Given the description of an element on the screen output the (x, y) to click on. 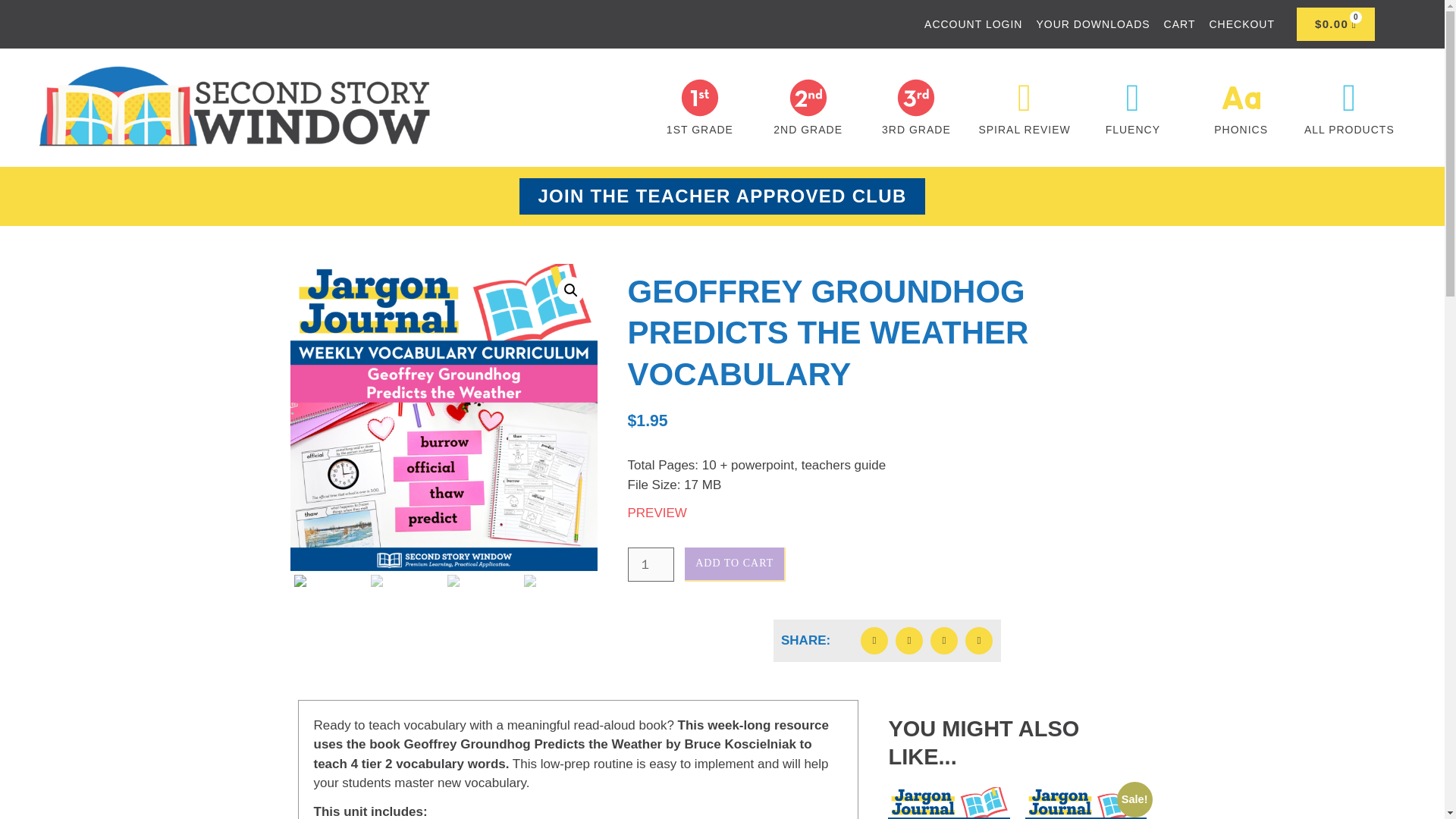
YOUR DOWNLOADS (1092, 23)
Geoffrey Groundhog Predicts the Weather Vocabulary (442, 416)
CART (1179, 23)
1ST GRADE (699, 129)
ALL PRODUCTS (1349, 129)
3RD GRADE (916, 129)
JOIN THE TEACHER APPROVED CLUB (721, 196)
SPIRAL REVIEW (1024, 129)
CHECKOUT (1241, 23)
ACCOUNT LOGIN (973, 23)
